Given the description of an element on the screen output the (x, y) to click on. 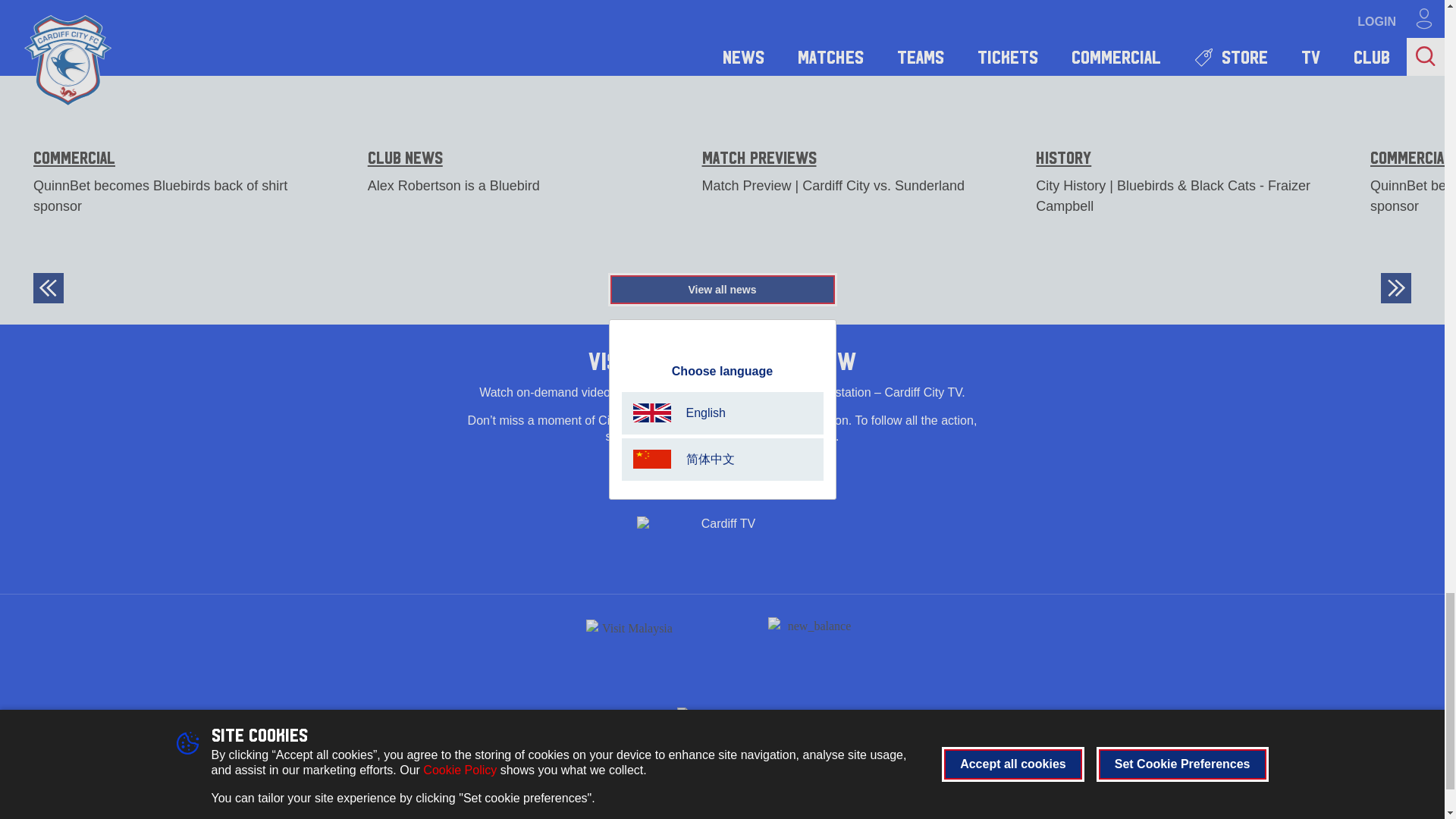
Nathaniel Cars (722, 713)
Visit Malaysia (631, 645)
New Balance (813, 645)
